Given the description of an element on the screen output the (x, y) to click on. 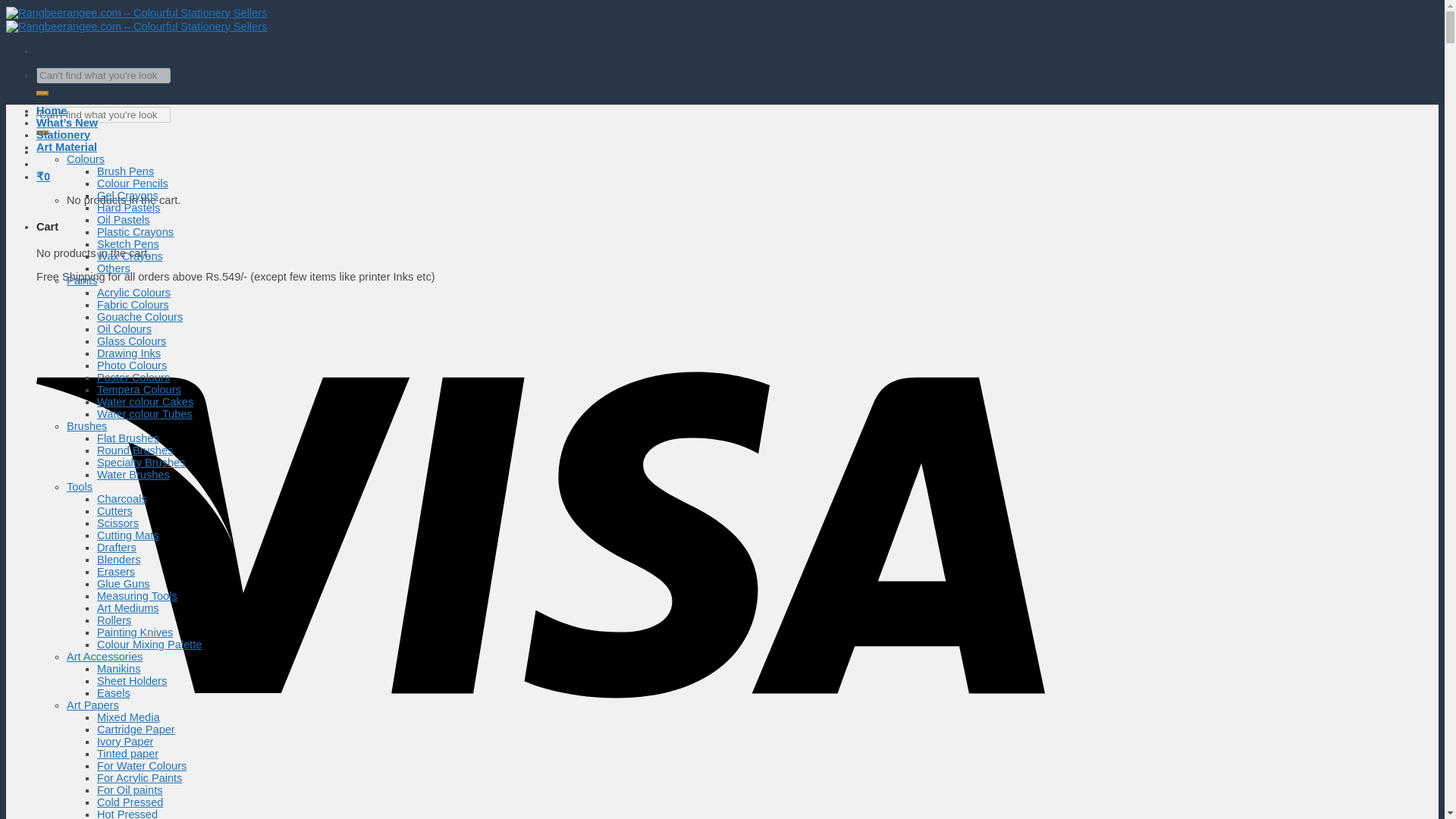
Others (114, 268)
Gel Crayons (127, 195)
Gouache Colours (140, 316)
Drawing Inks (128, 353)
Tools (79, 486)
Oil Colours (124, 328)
Stationery (63, 134)
Art Material (66, 146)
Water colour Cakes (145, 401)
Specialty Brushes (140, 462)
Fabric Colours (132, 304)
Poster Colours (133, 377)
Flat Brushes (127, 438)
Home (51, 110)
